Given the description of an element on the screen output the (x, y) to click on. 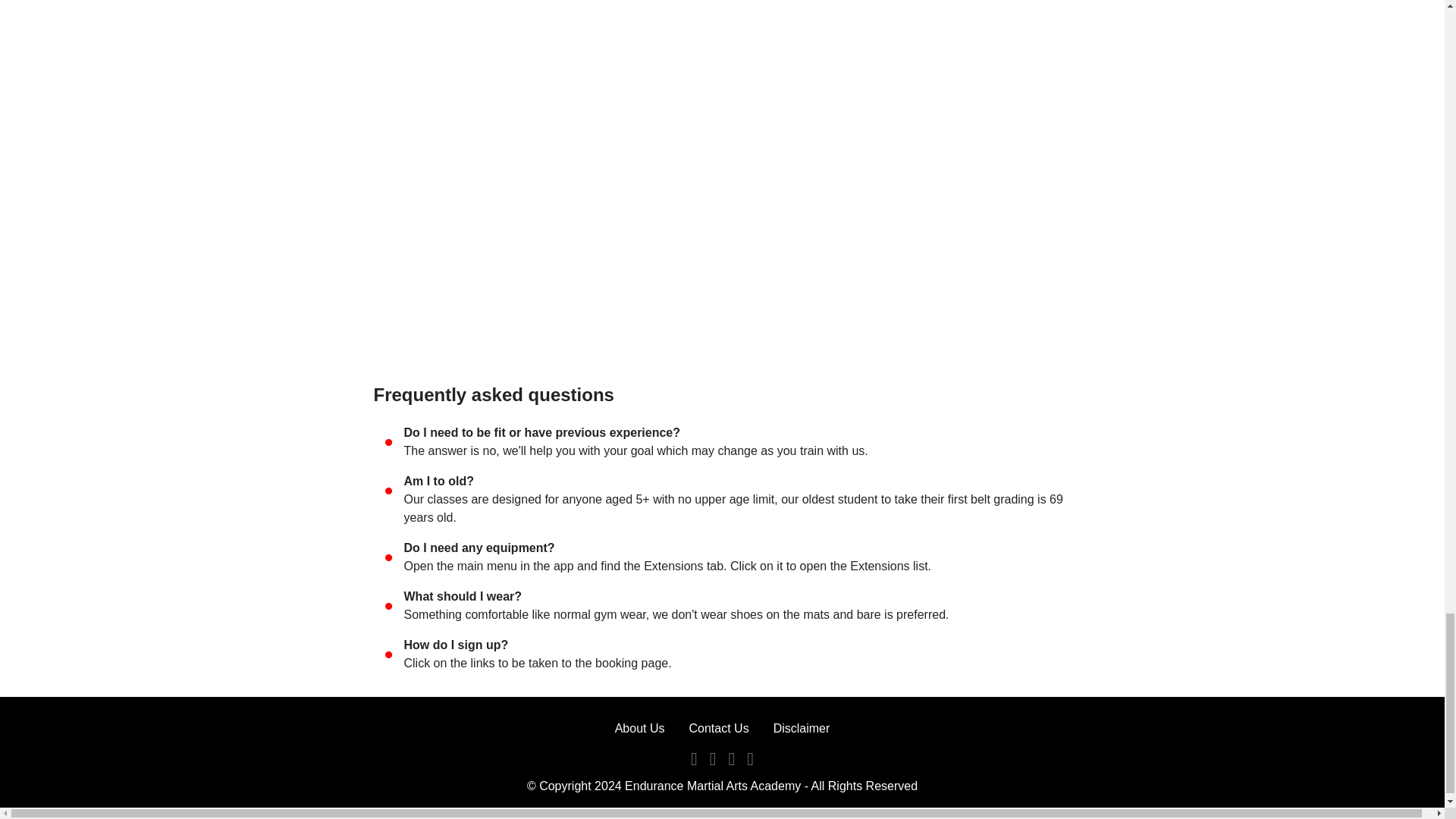
Disclaimer (801, 727)
Contact Us (718, 727)
About Us (639, 727)
